Given the description of an element on the screen output the (x, y) to click on. 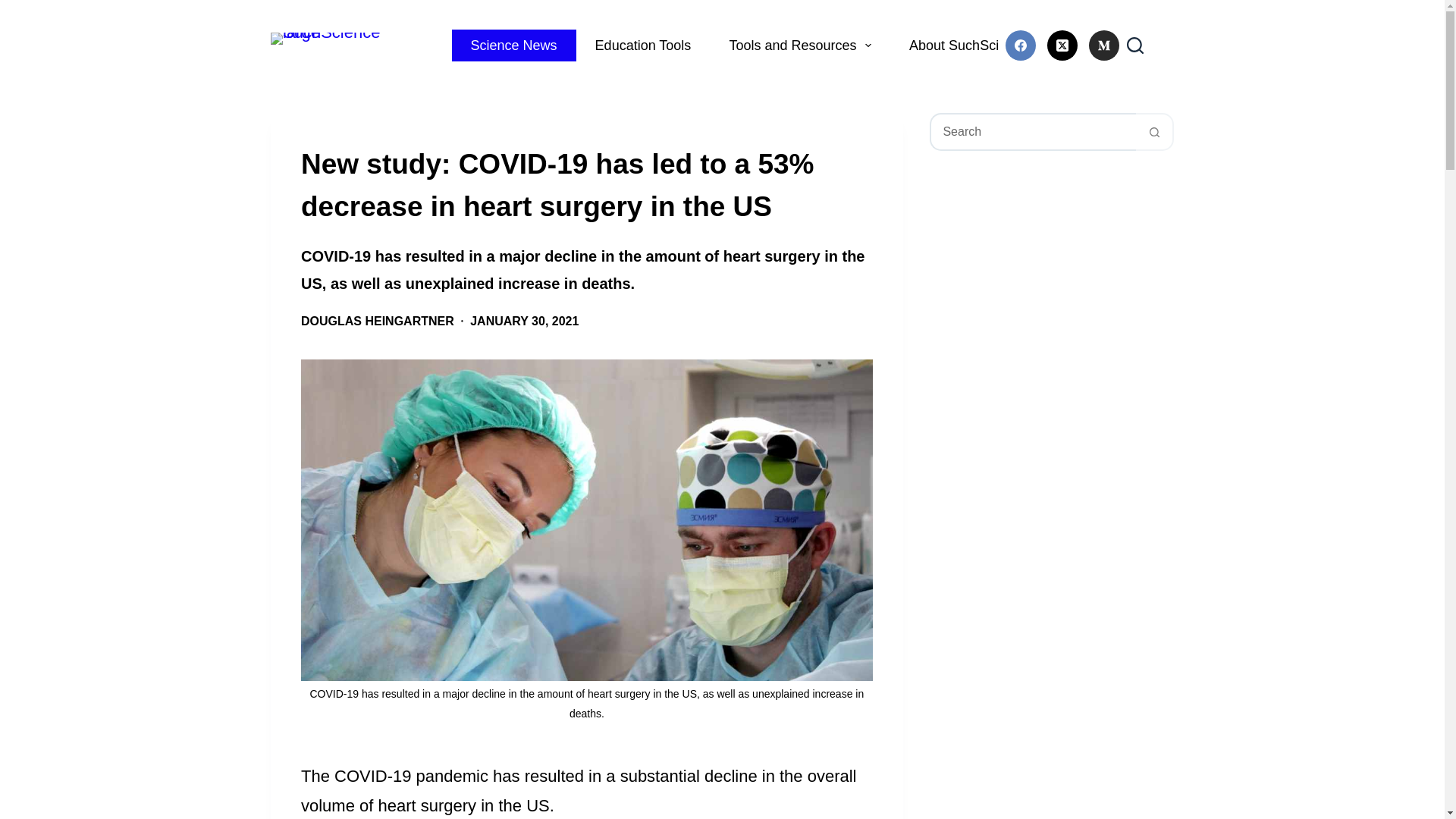
Education Tools (643, 45)
Posts by Douglas Heingartner (377, 320)
Skip to content (15, 7)
Search for... (1032, 131)
About SuchScience (975, 45)
Tools and Resources (799, 45)
Science News (513, 45)
